Given the description of an element on the screen output the (x, y) to click on. 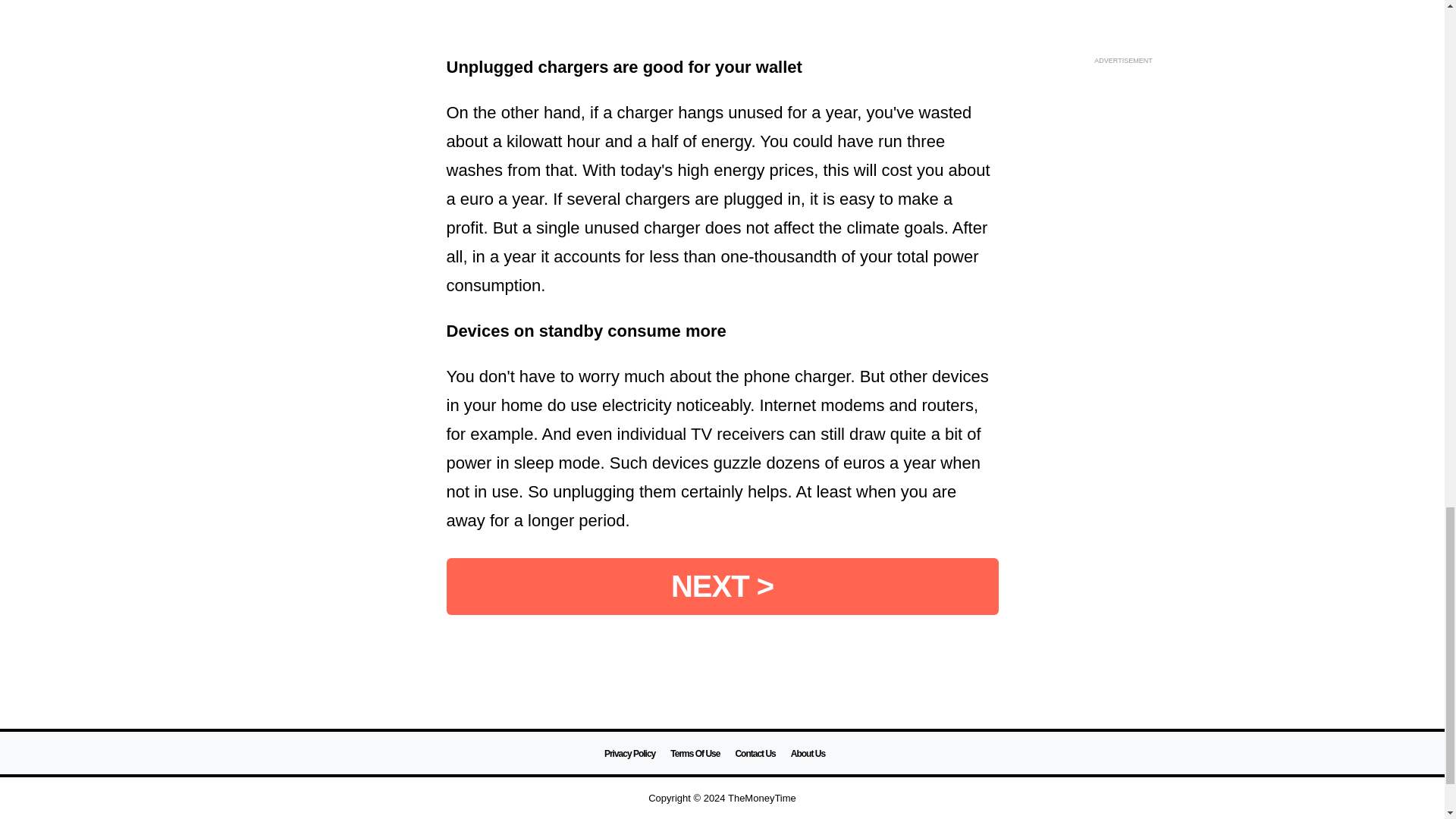
Terms Of Use (694, 753)
Privacy Policy (629, 753)
Contact Us (754, 753)
About Us (807, 753)
